Given the description of an element on the screen output the (x, y) to click on. 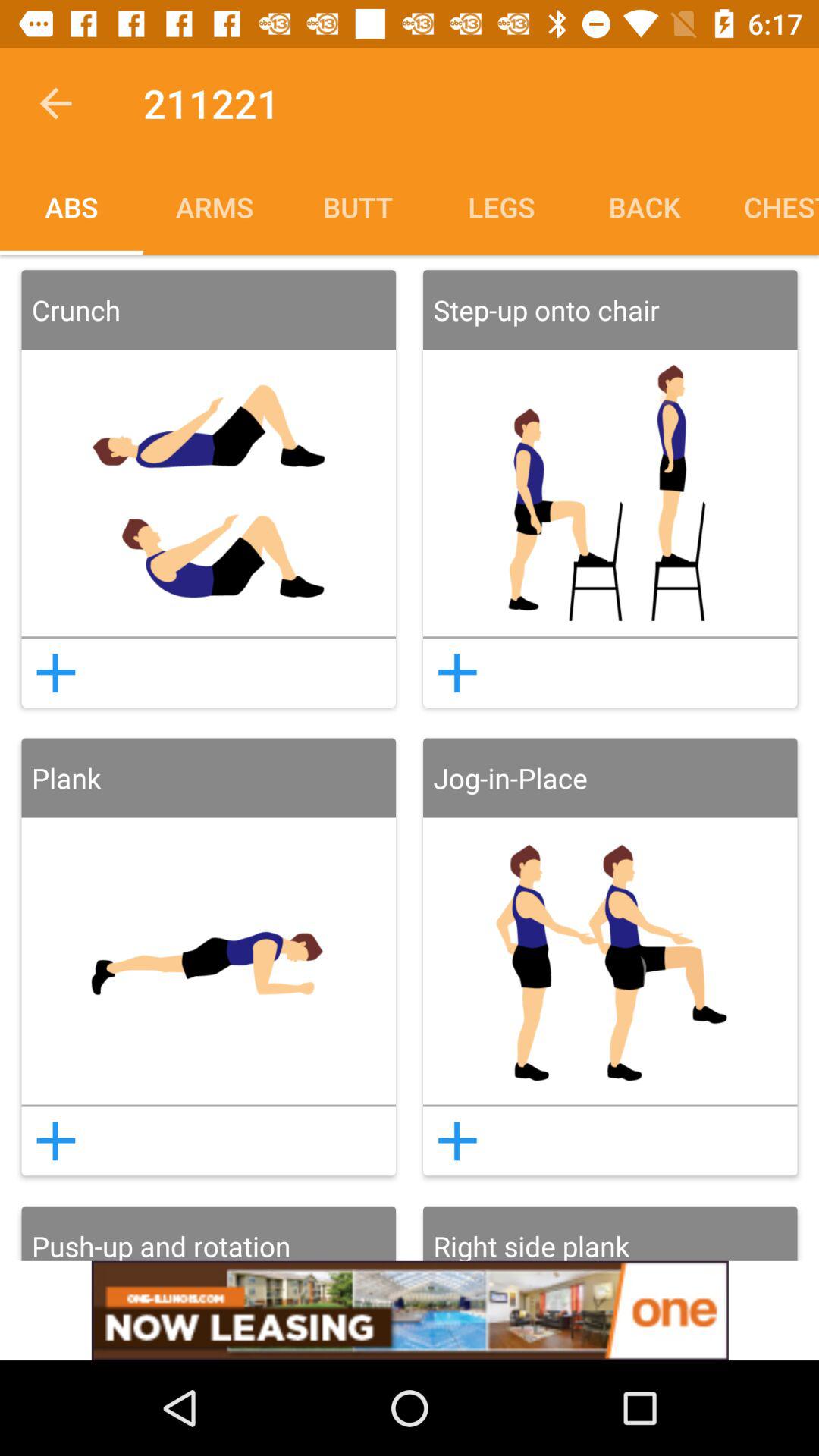
get more information (55, 672)
